Given the description of an element on the screen output the (x, y) to click on. 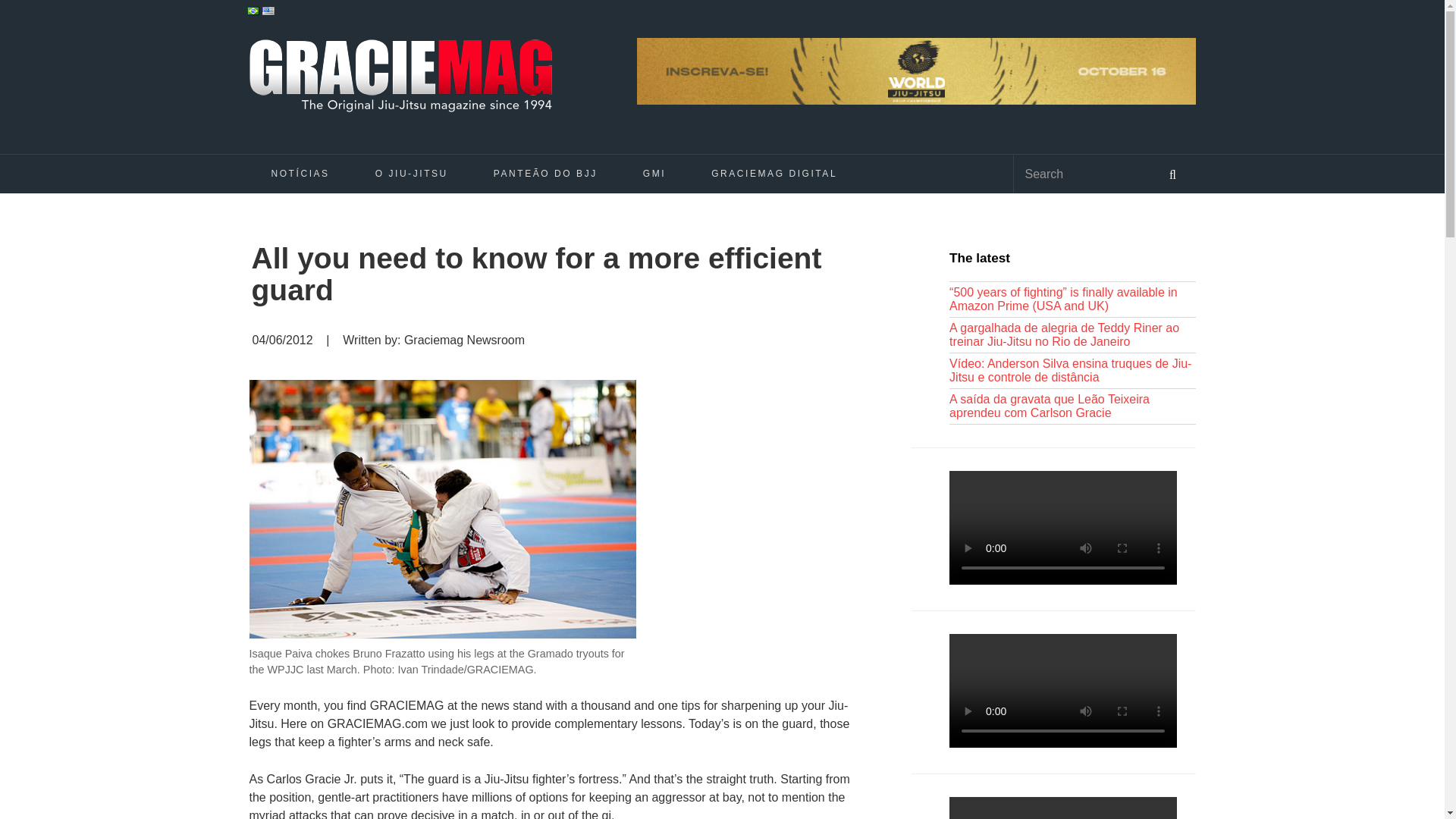
GMI (654, 173)
GRACIEMAG DIGITAL (774, 173)
Search (1081, 174)
O JIU-JITSU (411, 173)
Search (1172, 173)
Search (1081, 174)
